Given the description of an element on the screen output the (x, y) to click on. 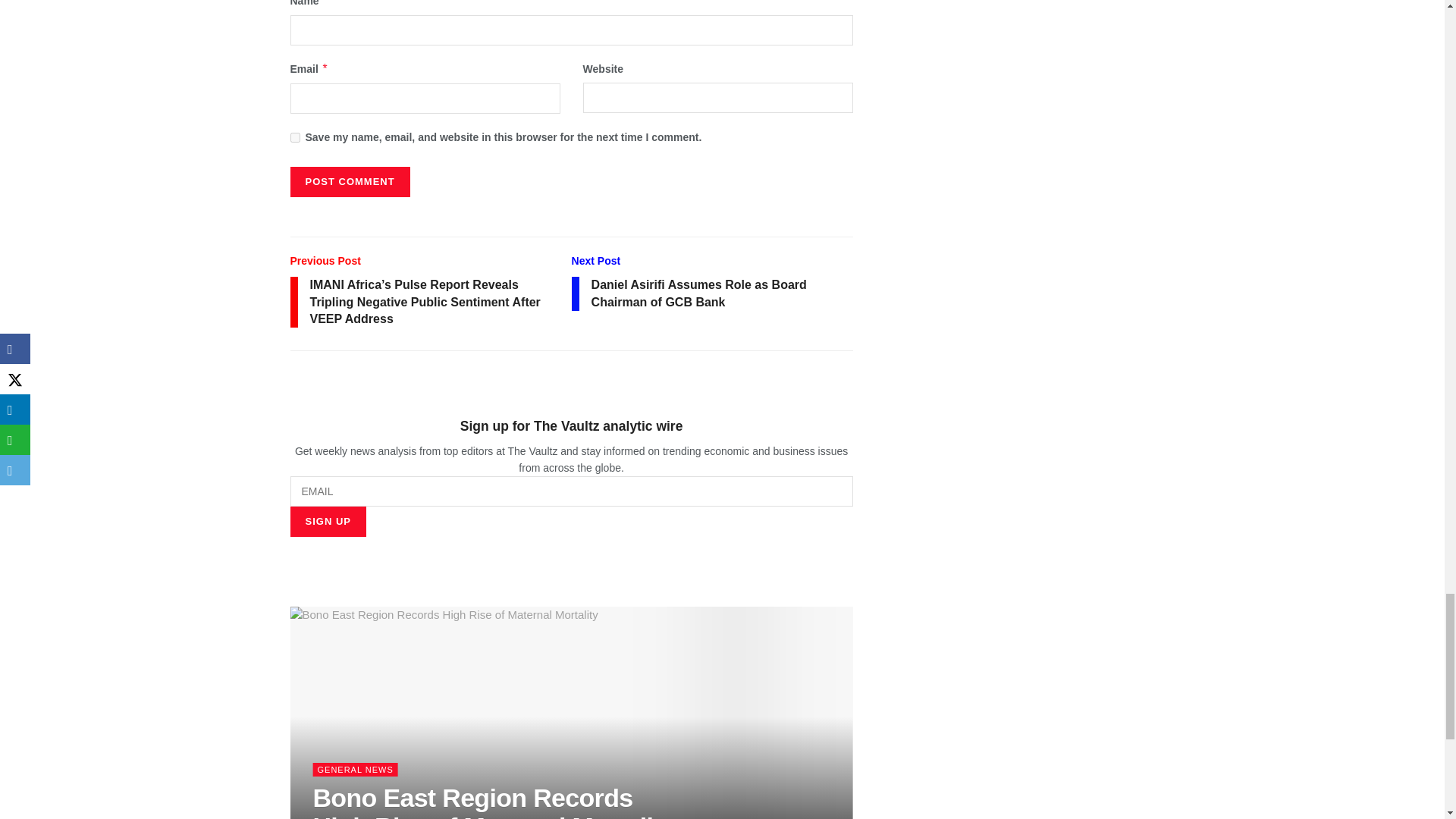
Post Comment (349, 182)
yes (294, 137)
Sign up (327, 521)
